Given the description of an element on the screen output the (x, y) to click on. 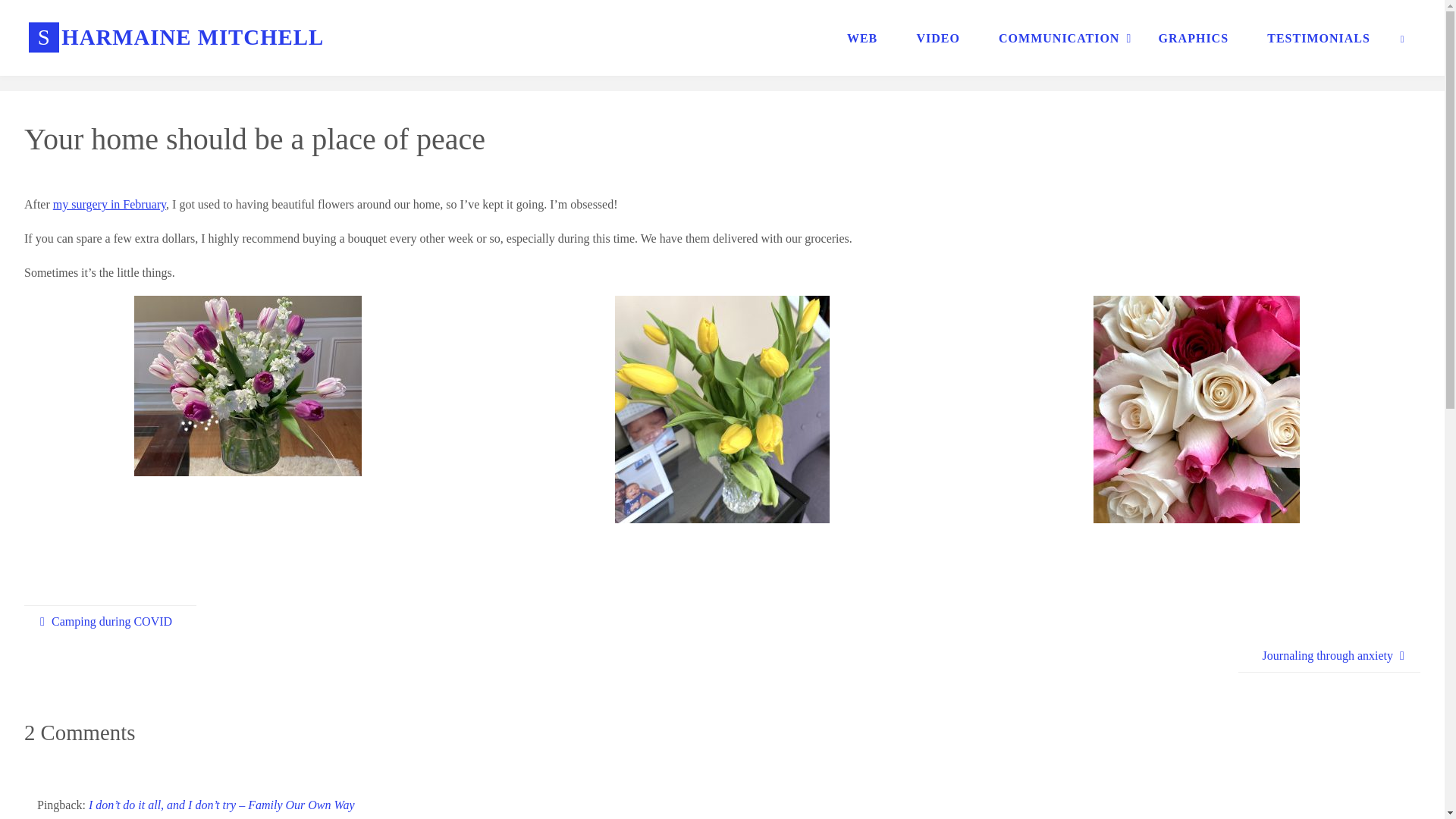
Journaling through anxiety (1330, 656)
my surgery in February (108, 204)
WEB (861, 38)
TESTIMONIALS (1318, 38)
GRAPHICS (1192, 38)
Camping during COVID (110, 622)
SHARMAINE MITCHELL (176, 37)
VIDEO (937, 38)
COMMUNICATION (1058, 38)
